Given the description of an element on the screen output the (x, y) to click on. 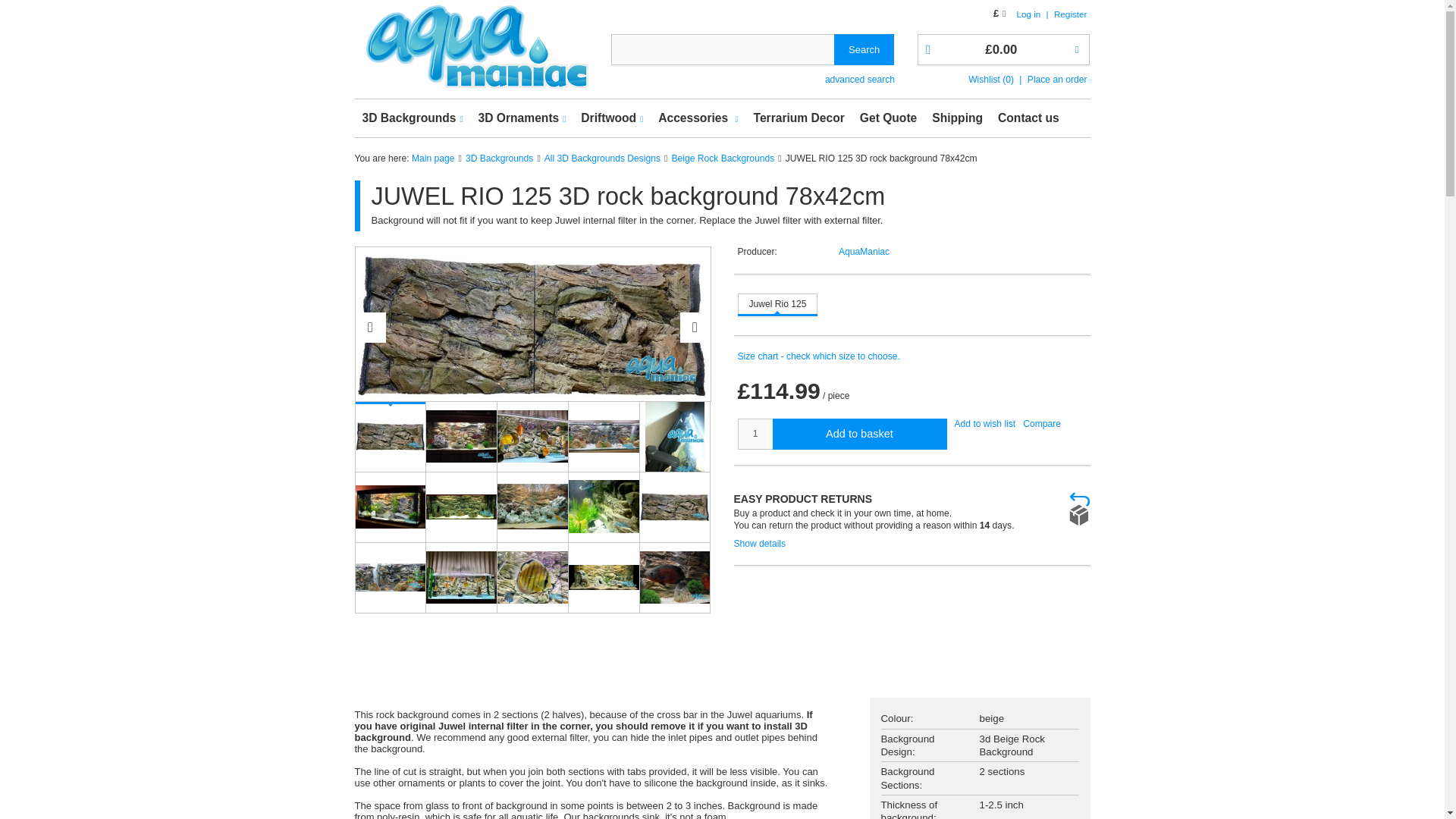
3D Backgrounds (412, 118)
Terrarium Decor (798, 118)
Accessories  (697, 118)
3D Ornaments (521, 118)
3D Backgrounds (412, 118)
Driftwood (611, 118)
Register (1070, 13)
Search (863, 49)
1 (753, 433)
Contact us (1028, 118)
Get Quote (887, 118)
advanced search (860, 75)
Shipping (957, 118)
Log in (1029, 13)
